Given the description of an element on the screen output the (x, y) to click on. 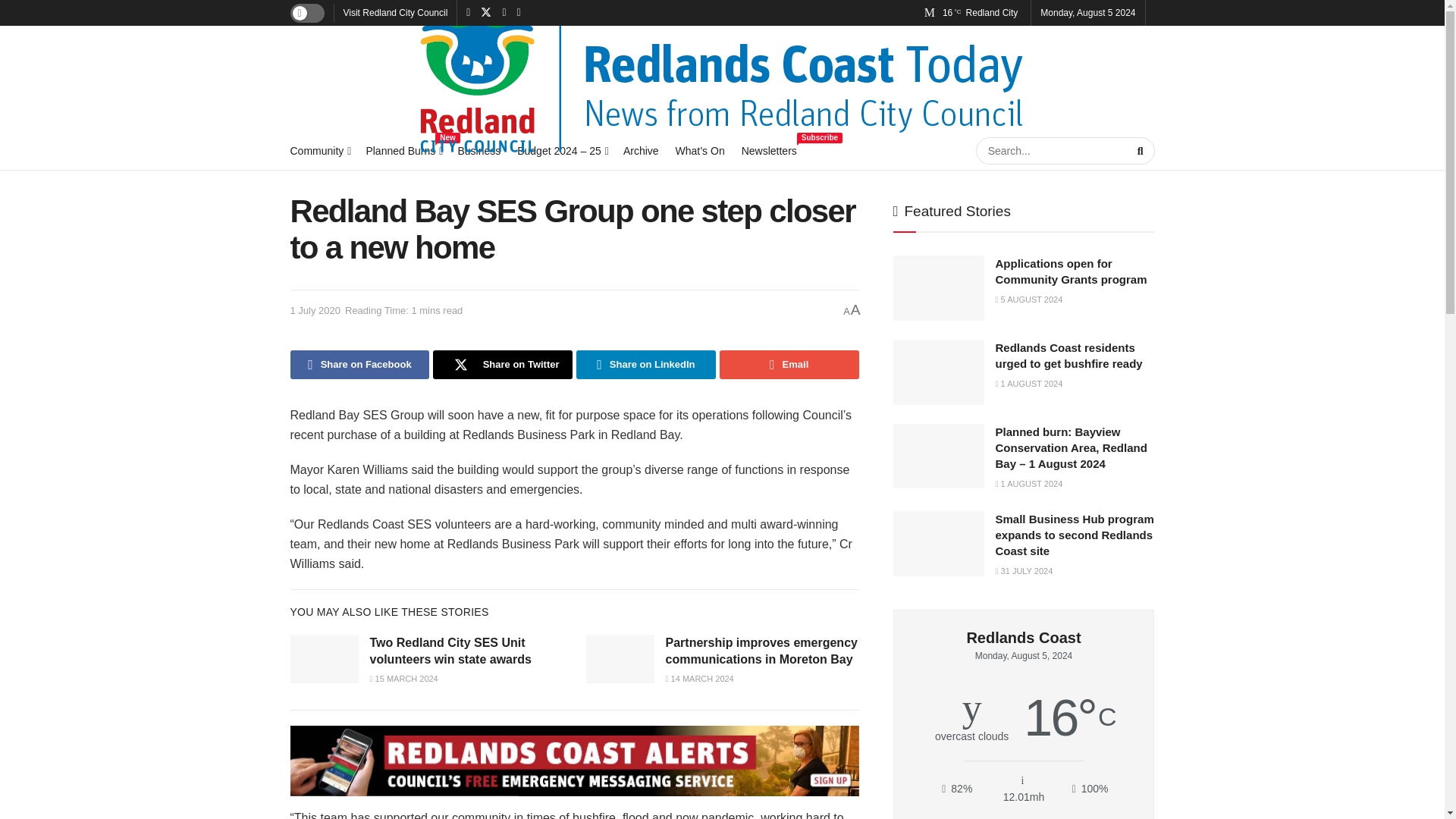
Visit Redland City Council (768, 150)
1 July 2020 (394, 12)
Business (314, 310)
Archive (478, 150)
Community (403, 150)
